Given the description of an element on the screen output the (x, y) to click on. 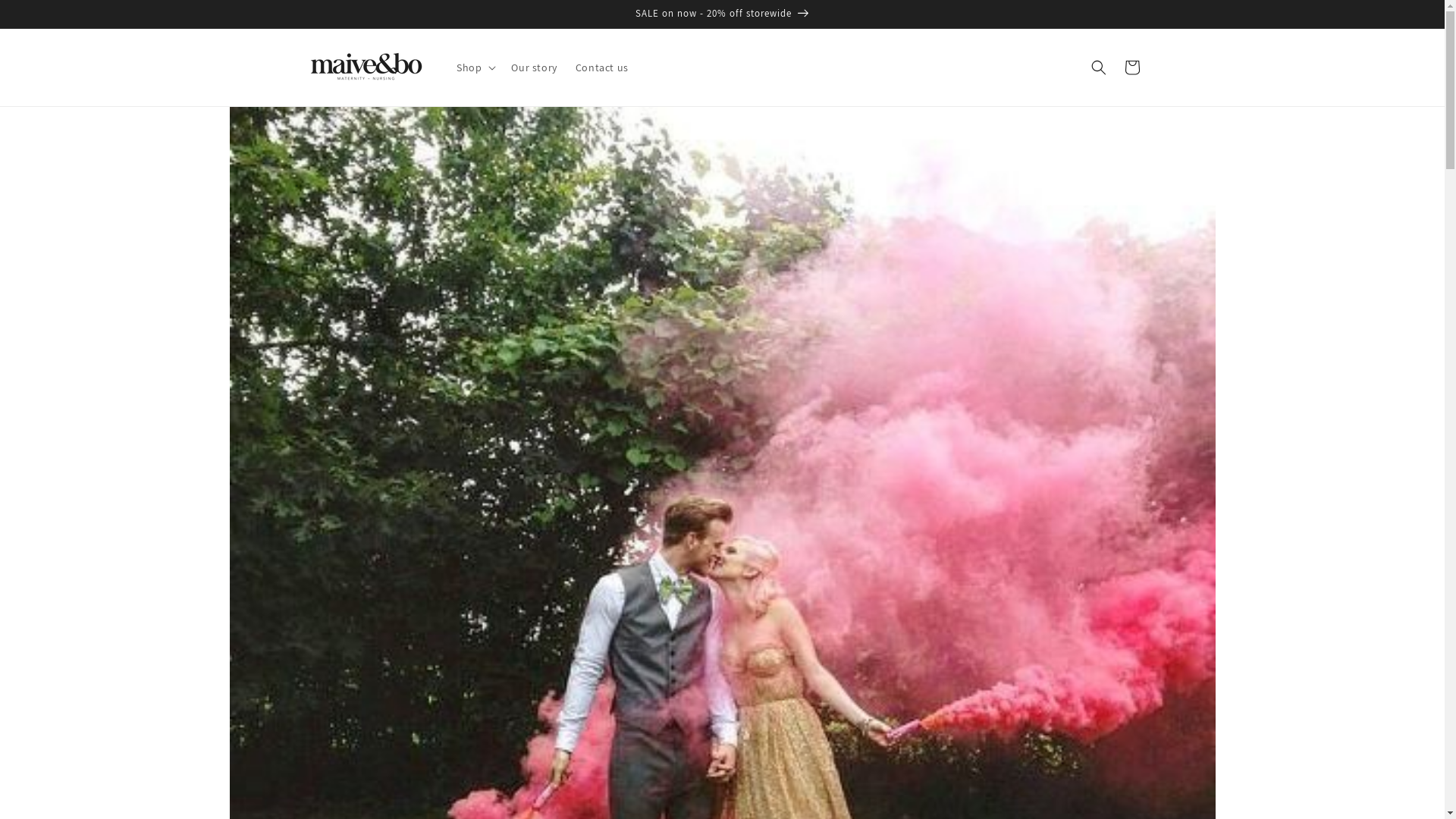
SALE on now - 20% off storewide Element type: text (722, 14)
Cart Element type: text (1131, 67)
Contact us Element type: text (601, 67)
Our story Element type: text (533, 67)
